Given the description of an element on the screen output the (x, y) to click on. 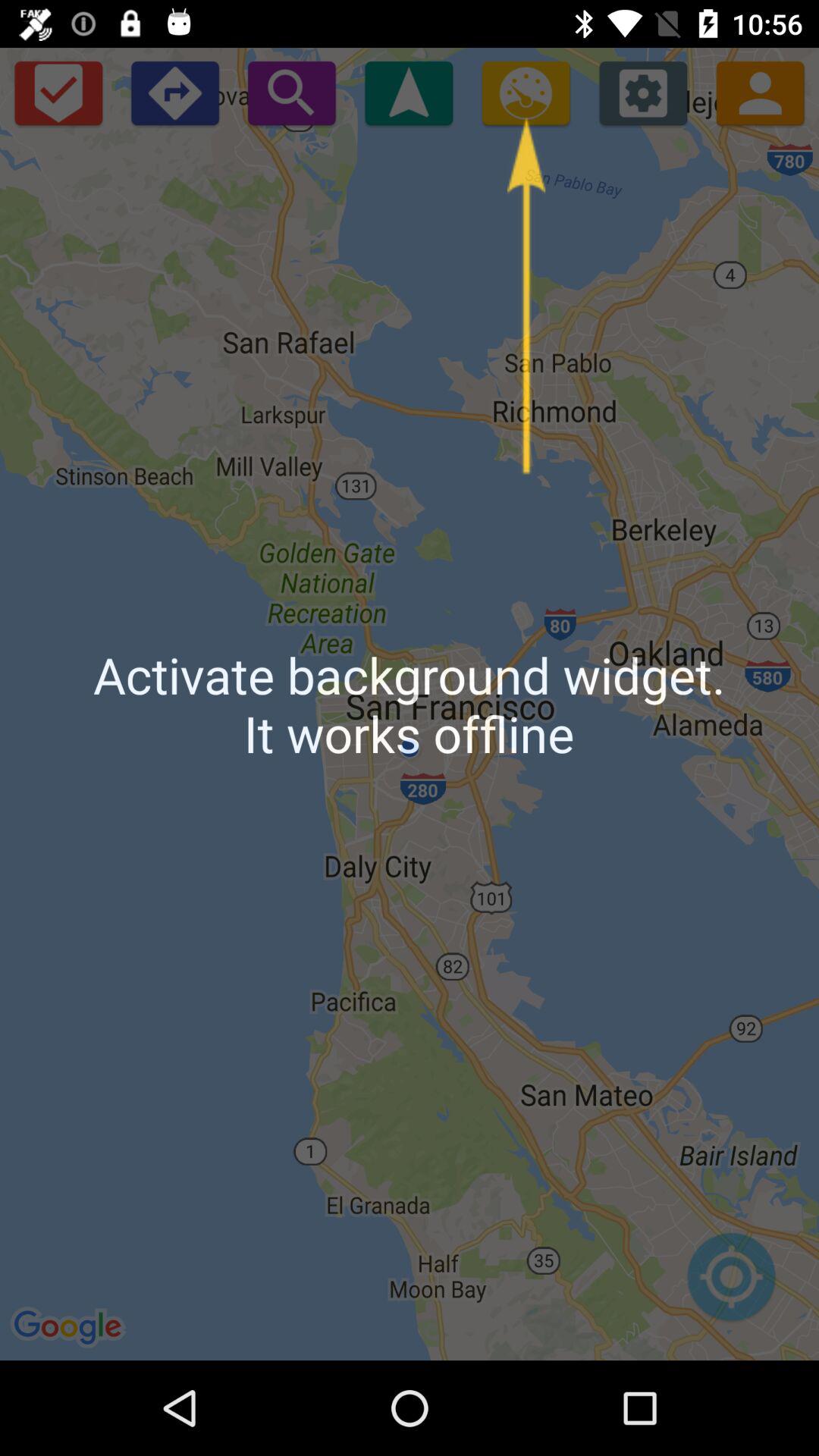
activate background widget (525, 92)
